Given the description of an element on the screen output the (x, y) to click on. 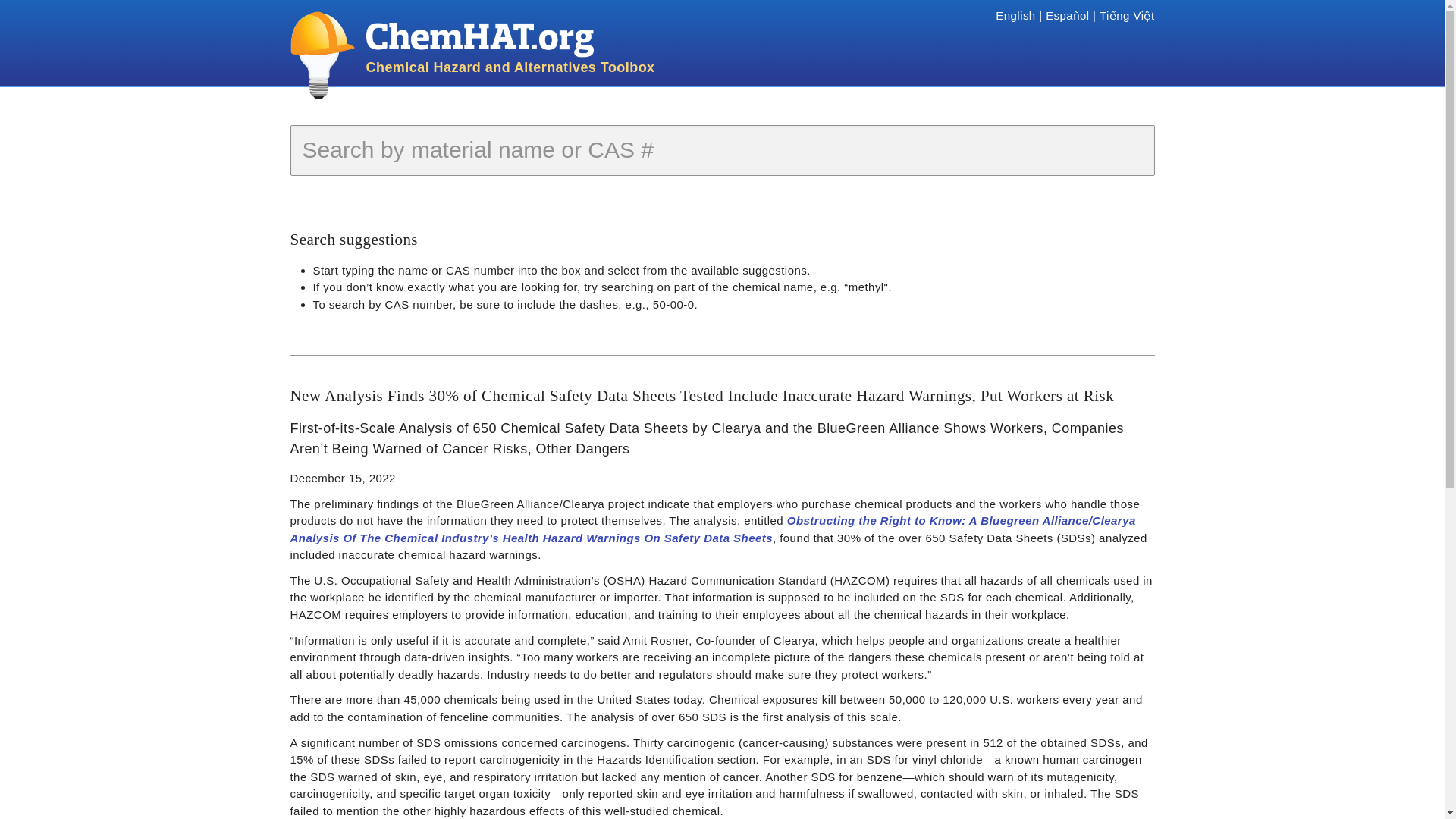
English (1015, 15)
Home (509, 39)
